Given the description of an element on the screen output the (x, y) to click on. 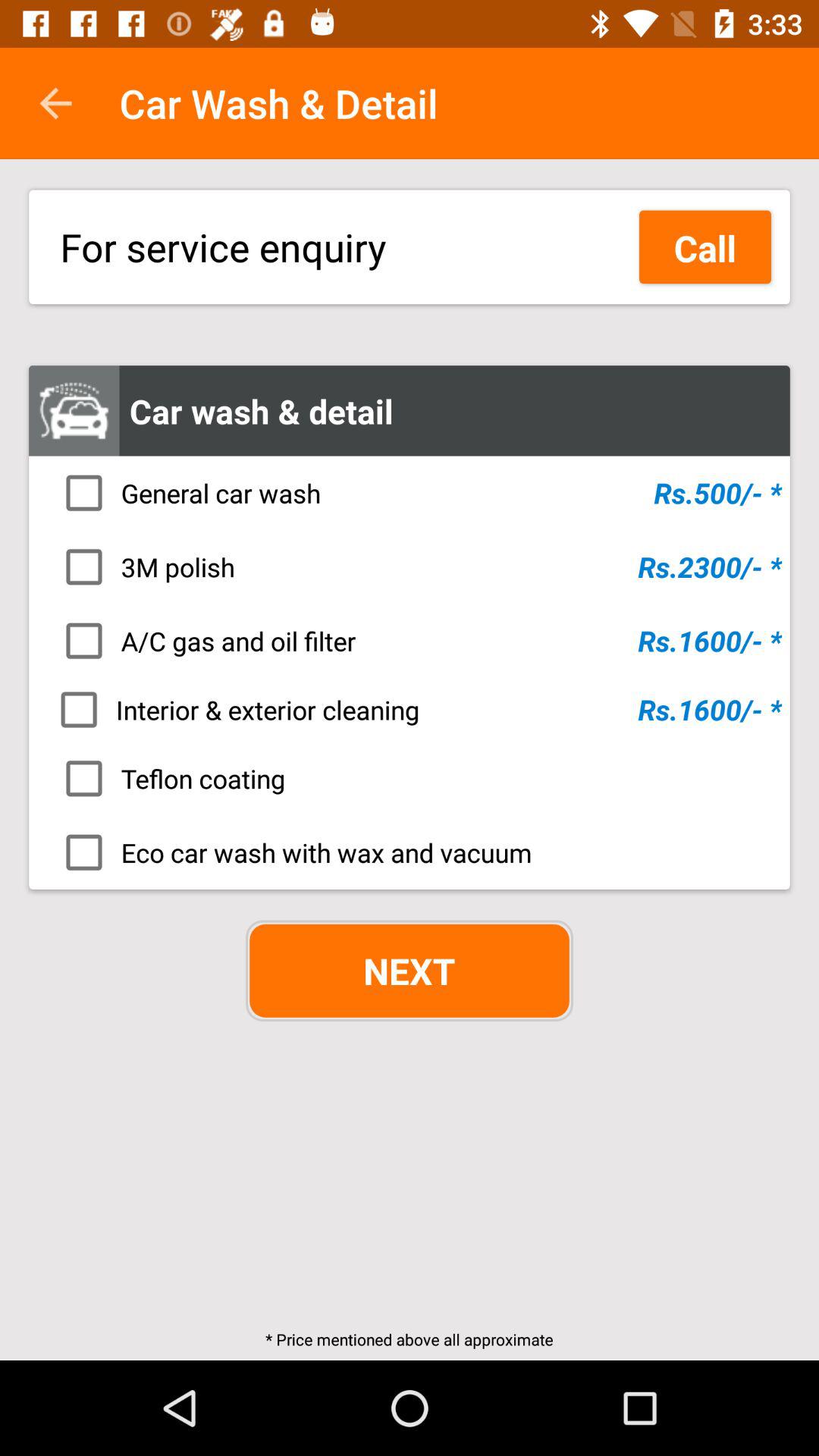
click the app next to car wash & detail (55, 103)
